Given the description of an element on the screen output the (x, y) to click on. 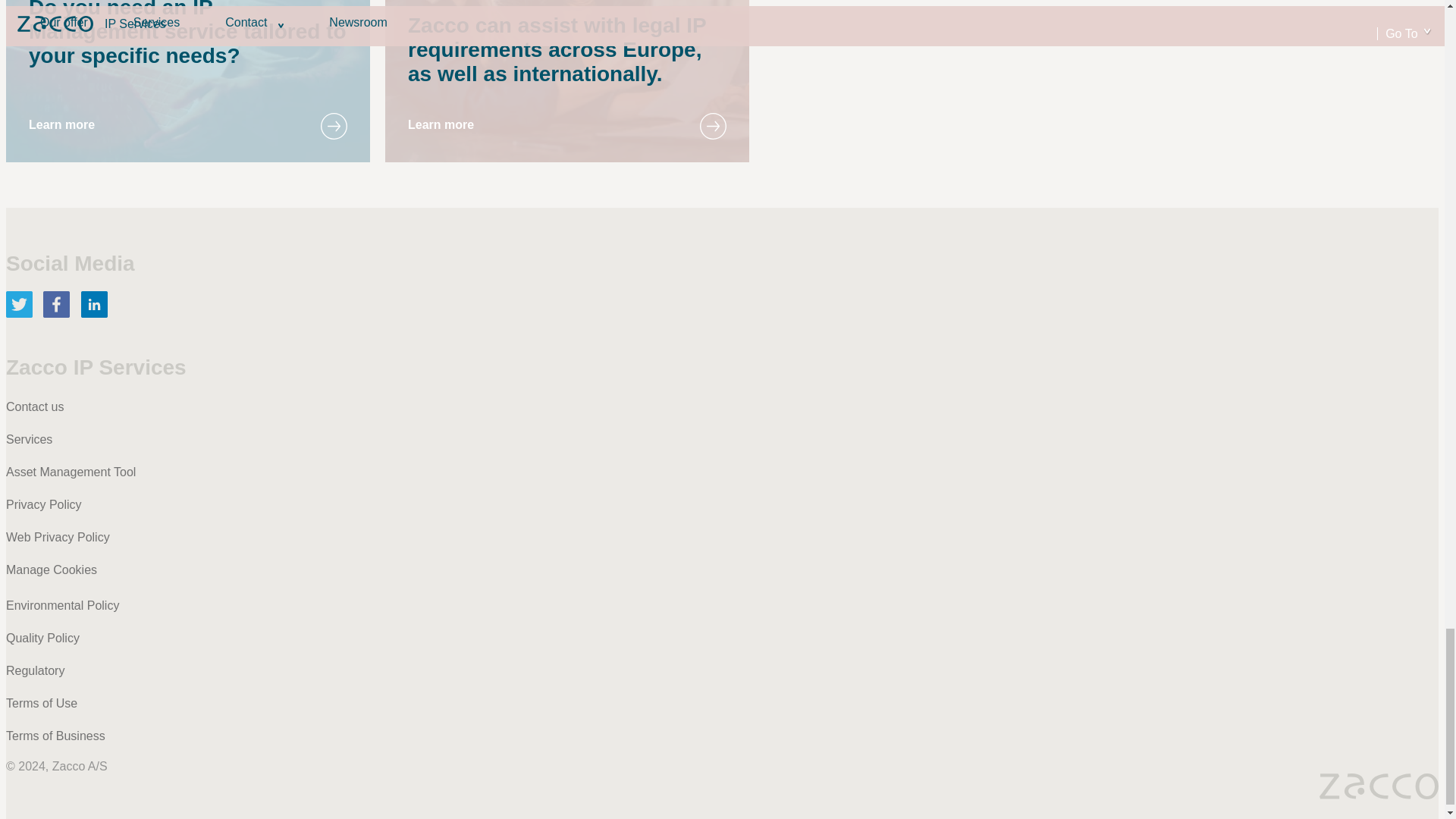
Learn more (440, 124)
Learn more (61, 124)
